Given the description of an element on the screen output the (x, y) to click on. 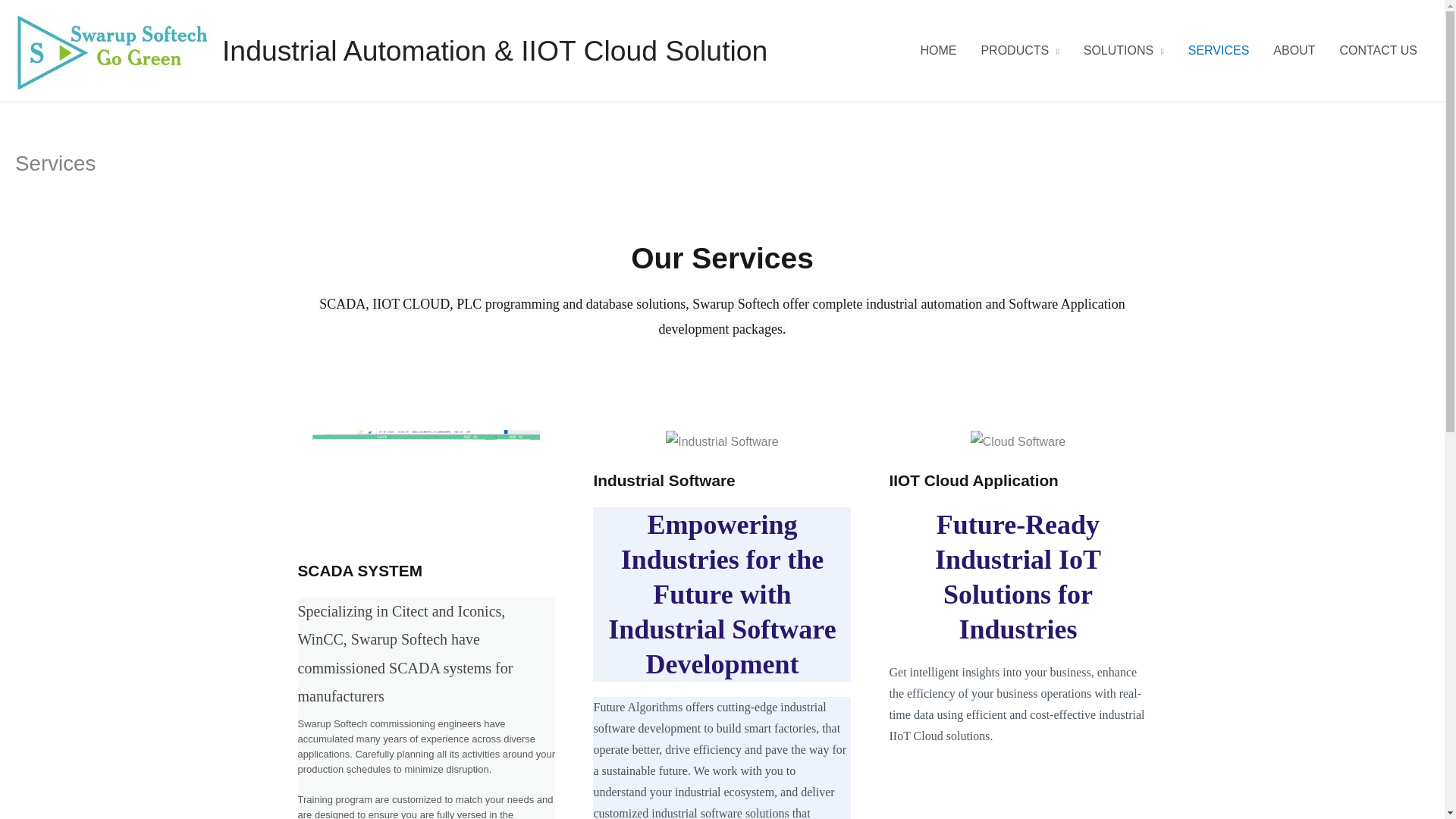
ABOUT (1293, 50)
PRODUCTS (1019, 50)
SERVICES (1219, 50)
HOME (937, 50)
CONTACT US (1377, 50)
SOLUTIONS (1123, 50)
Industrial Software (721, 441)
SCADA (426, 486)
Cloud Software (1018, 441)
IIOT Cloud Application (973, 479)
